Given the description of an element on the screen output the (x, y) to click on. 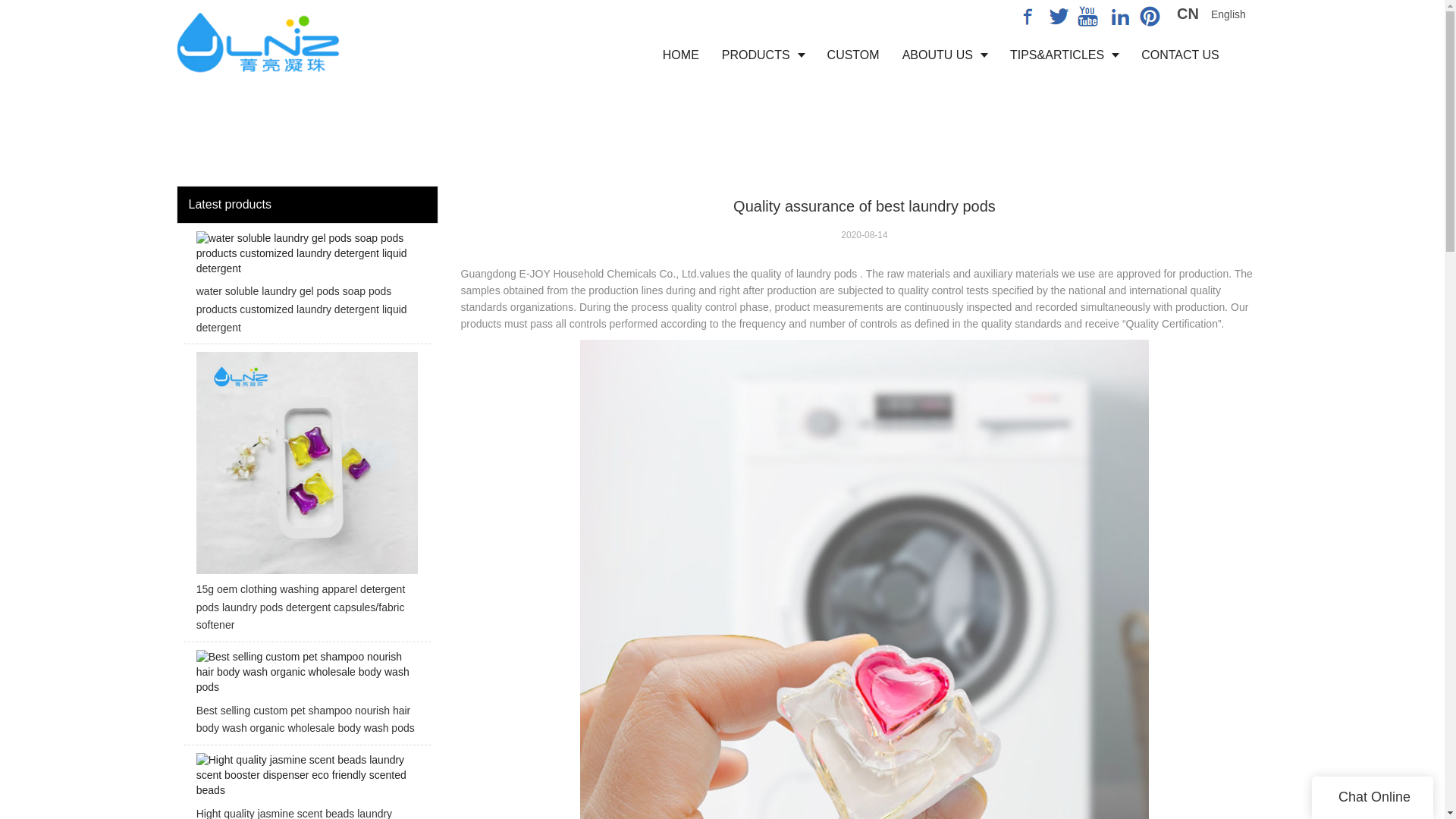
CUSTOM (853, 55)
CONTACT US (1179, 55)
CN (1187, 15)
PRODUCTS (762, 55)
ABOUTU US (944, 55)
HOME (680, 55)
